Given the description of an element on the screen output the (x, y) to click on. 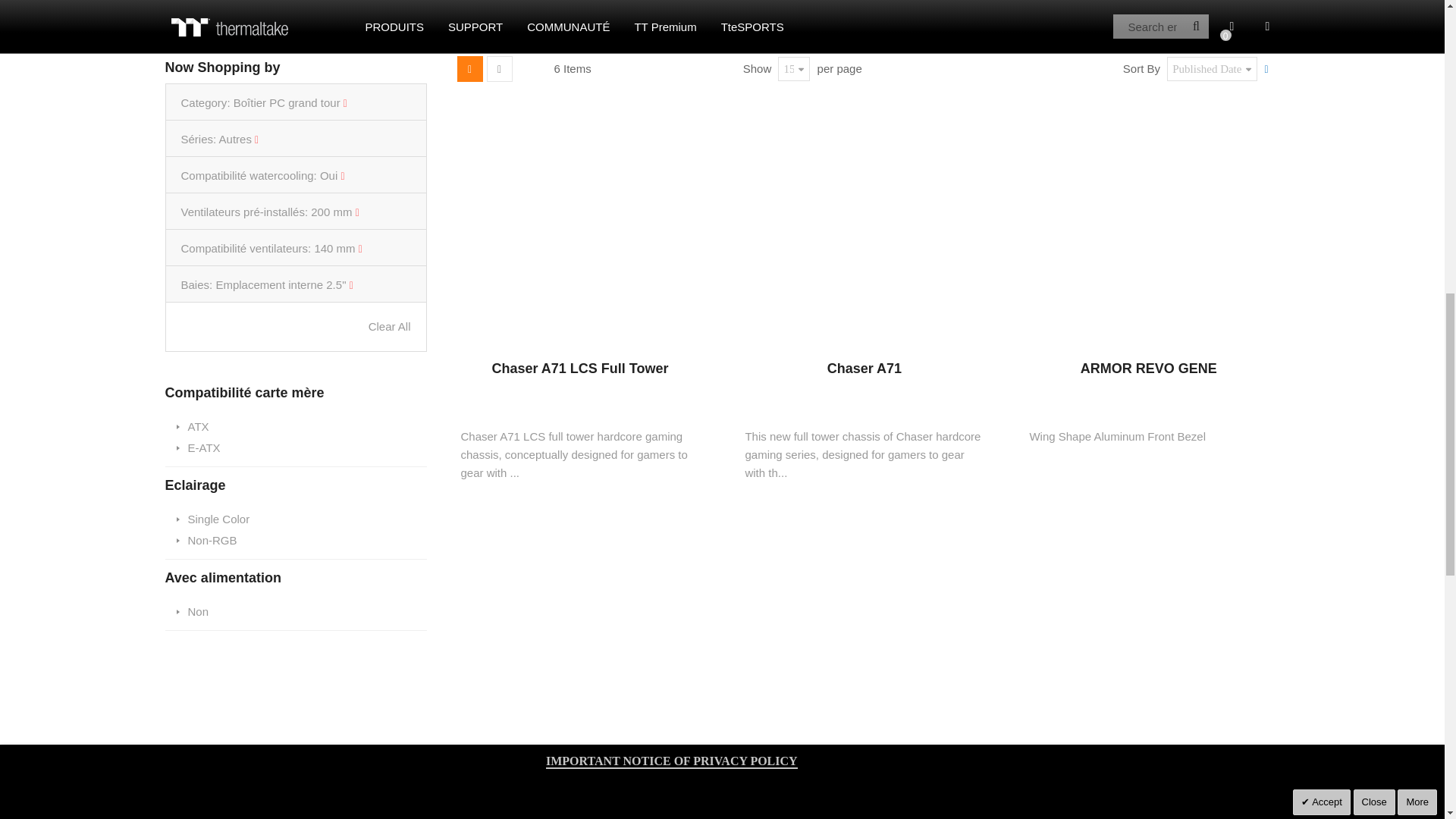
List (499, 68)
Grid (469, 68)
